Given the description of an element on the screen output the (x, y) to click on. 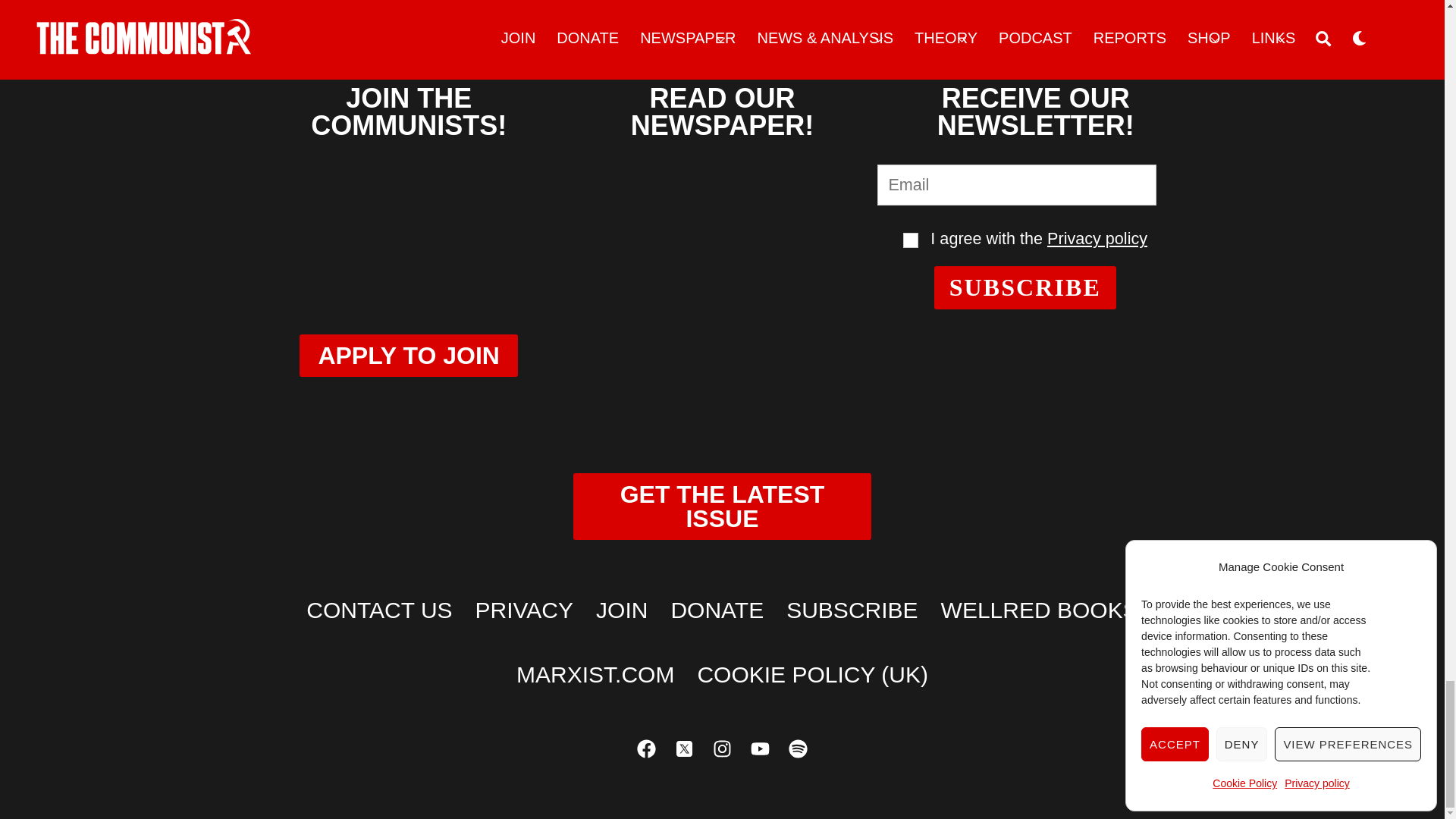
on (910, 240)
Terms and conditions (910, 240)
Privacy policy (1096, 238)
